Given the description of an element on the screen output the (x, y) to click on. 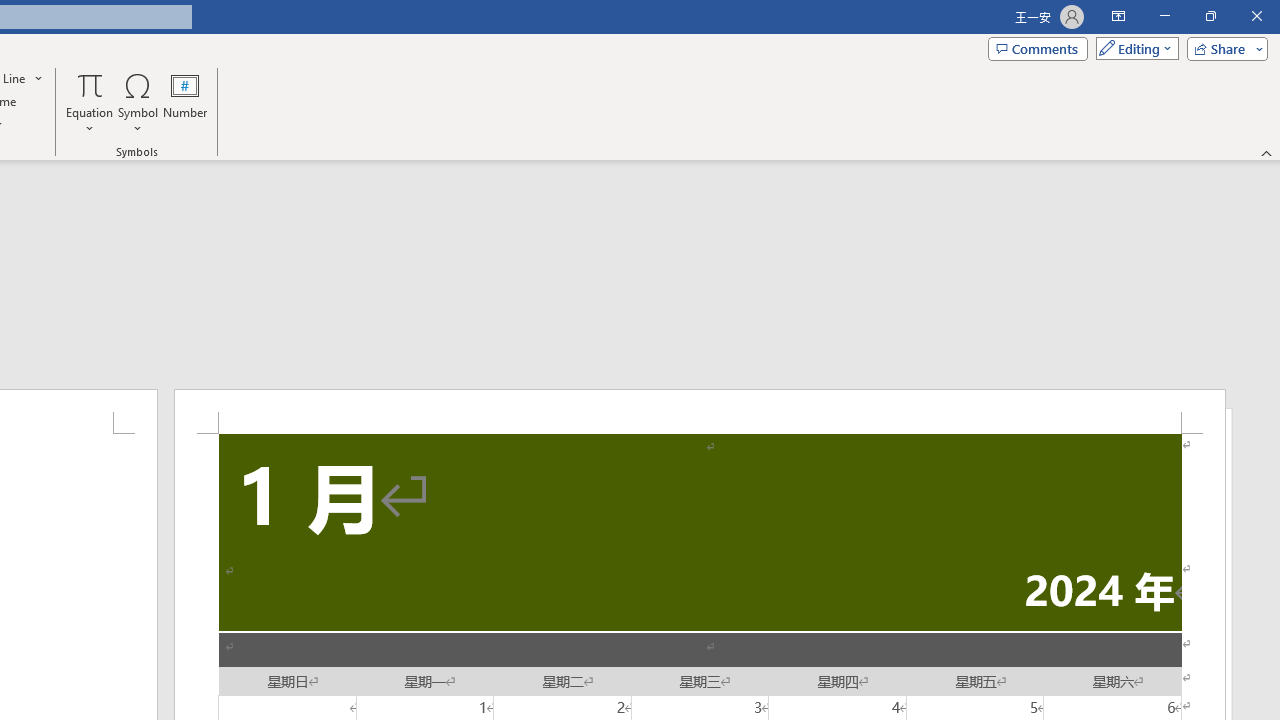
Collapse the Ribbon (1267, 152)
Comments (1038, 48)
Close (1256, 16)
Share (1223, 48)
Header -Section 1- (700, 411)
Ribbon Display Options (1118, 16)
Equation (90, 102)
More Options (90, 121)
Minimize (1164, 16)
Equation (90, 84)
Restore Down (1210, 16)
Mode (1133, 47)
Number... (185, 102)
